Given the description of an element on the screen output the (x, y) to click on. 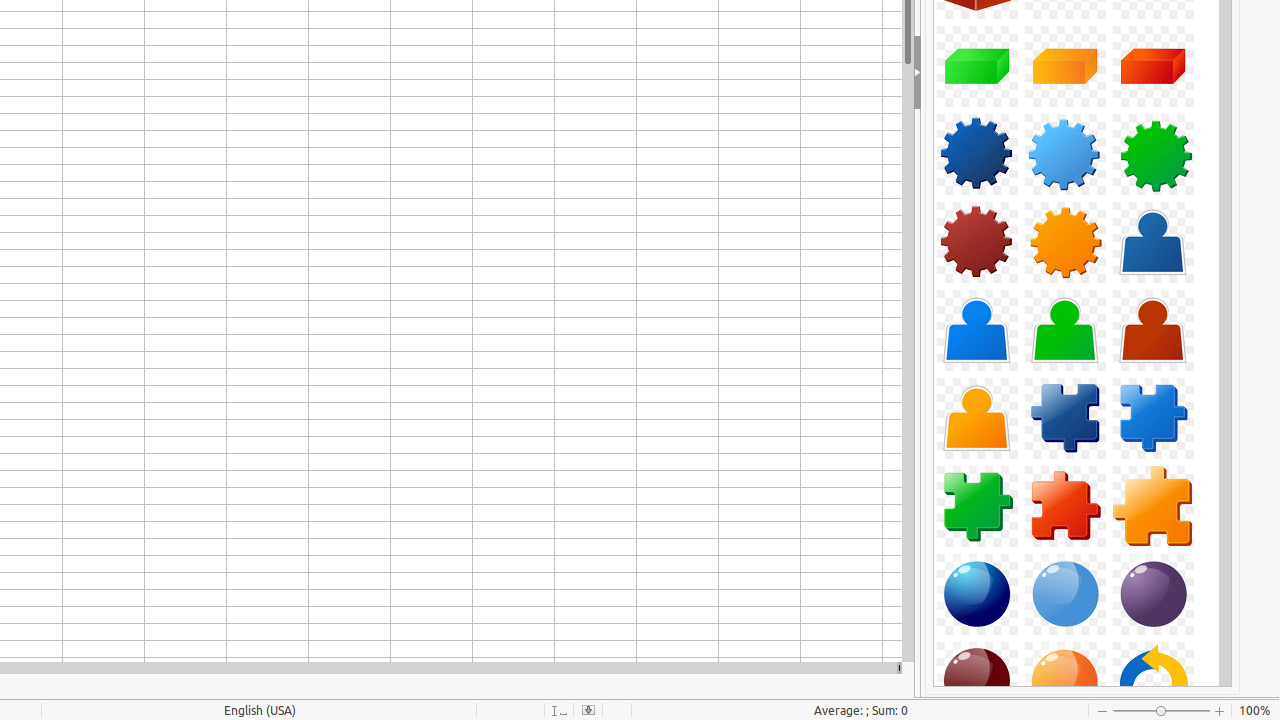
Component-Gear03-Green Element type: list-item (1153, 154)
